Given the description of an element on the screen output the (x, y) to click on. 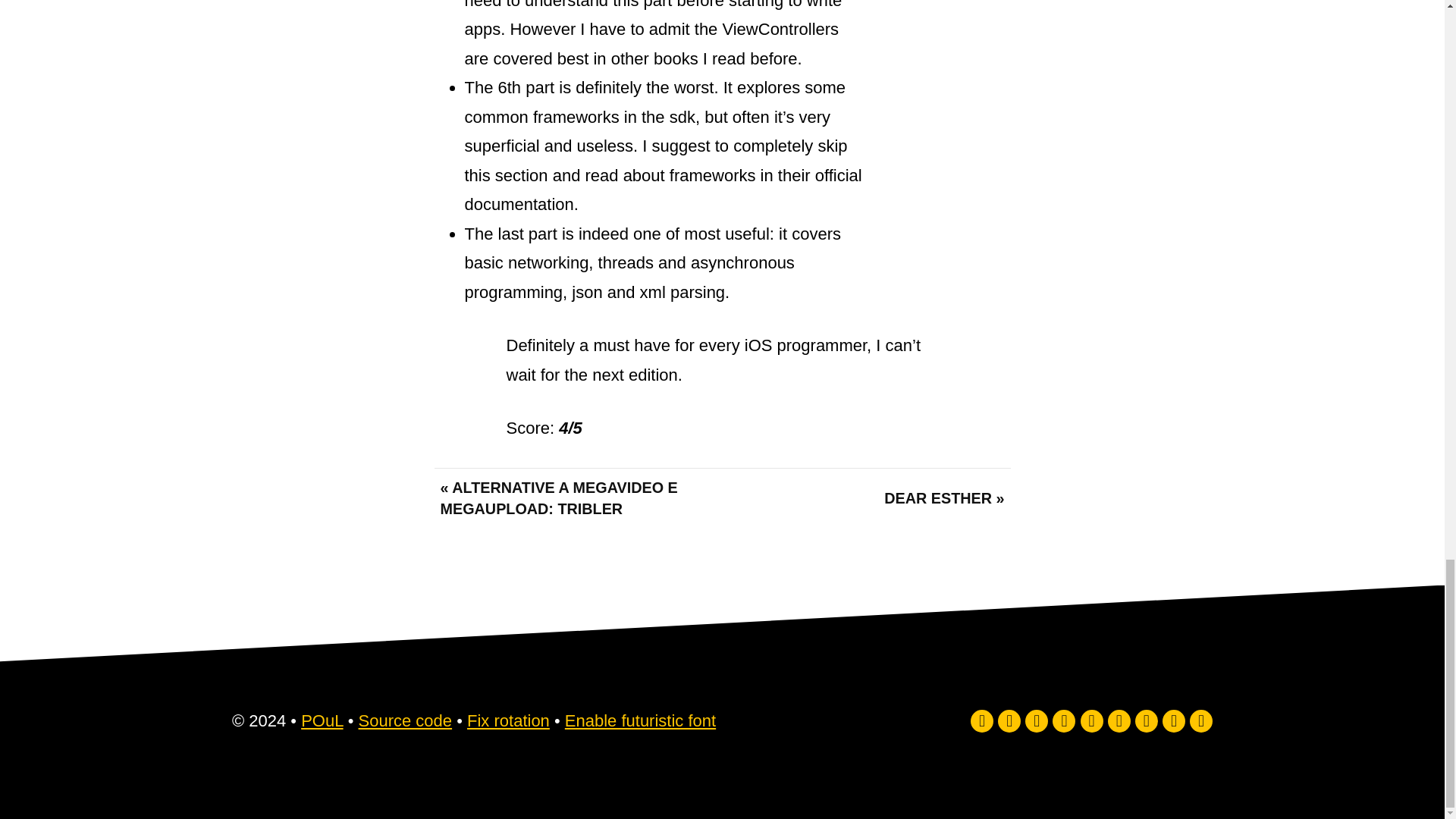
Fix rotation (508, 720)
Source code (405, 720)
POuL (321, 720)
Enable futuristic font (640, 720)
